Given the description of an element on the screen output the (x, y) to click on. 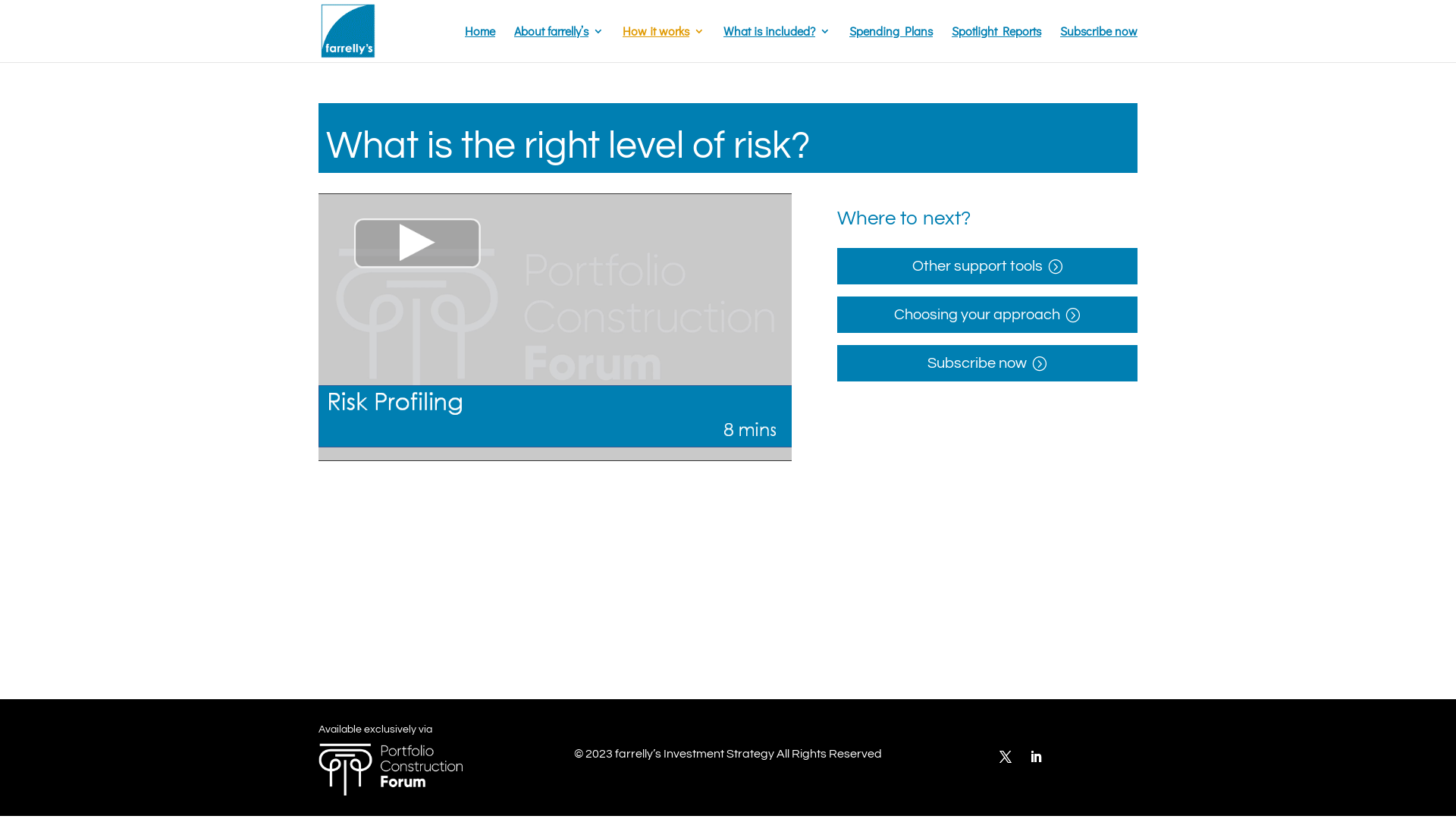
Follow on LinkedIn Element type: hover (1035, 756)
Subscribe now Element type: text (987, 363)
Subscribe now Element type: text (1098, 43)
Home Element type: text (479, 43)
Spending Plans Element type: text (890, 43)
Spotlight Reports Element type: text (996, 43)
Other support tools Element type: text (987, 265)
How it works Element type: text (663, 43)
Follow on X Element type: hover (1005, 756)
Choosing your approach Element type: text (987, 314)
What is included? Element type: text (776, 43)
